Given the description of an element on the screen output the (x, y) to click on. 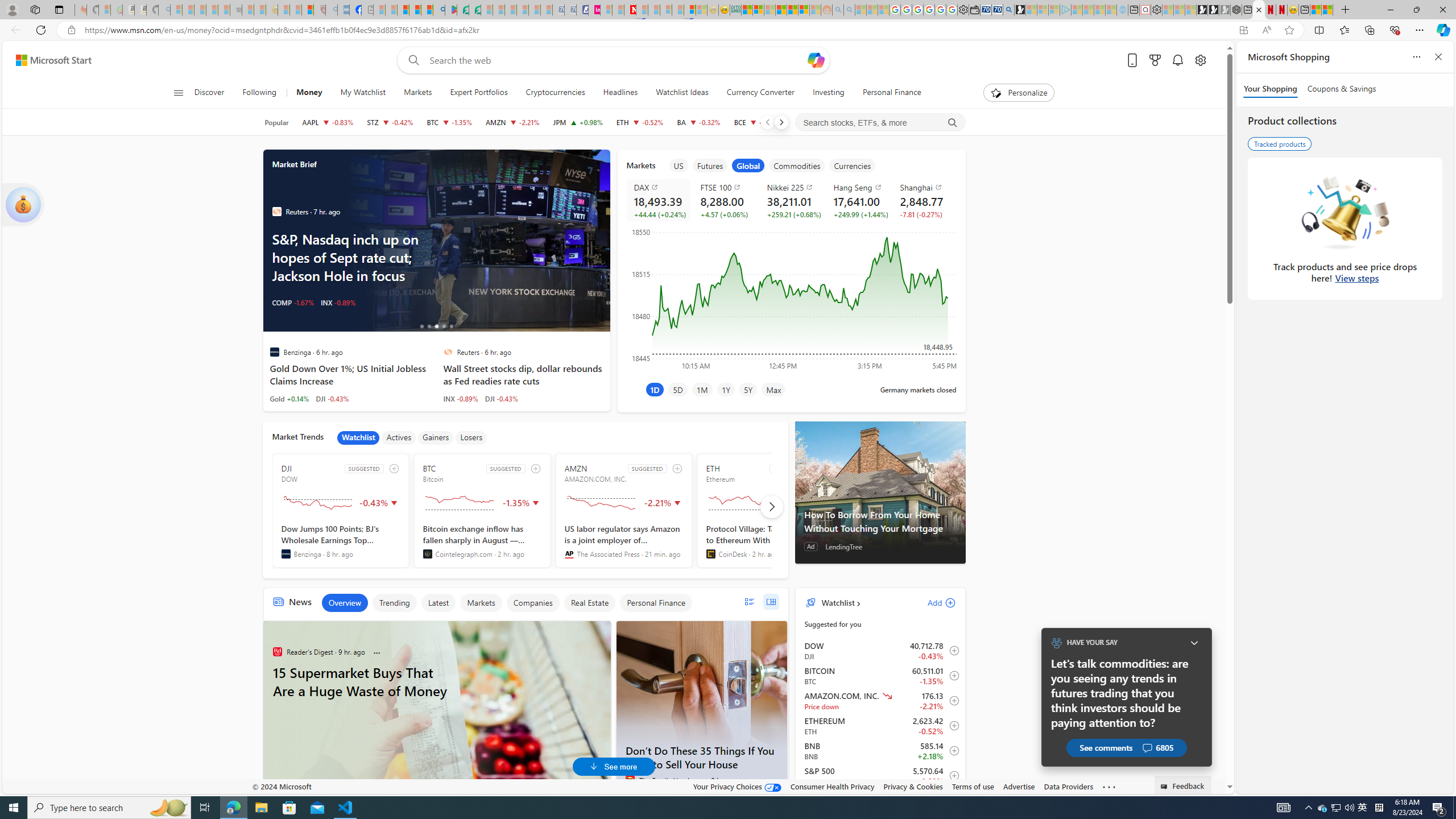
How To Borrow From Your Home Without Touching Your Mortgage (879, 520)
AdChoices (601, 627)
DJI DOW decrease 40,712.78 -177.71 -0.43% item0 (880, 650)
Companies (532, 602)
Search stocks, ETFs, & more (880, 122)
Microsoft account | Privacy - Sleeping (1053, 9)
New tab - Sleeping (367, 9)
Dow Jumps 100 Points; BJ's Wholesale Earnings Top Estimates (340, 540)
Losers (471, 437)
Privacy & Cookies (913, 786)
Pets - MSN (415, 9)
